Given the description of an element on the screen output the (x, y) to click on. 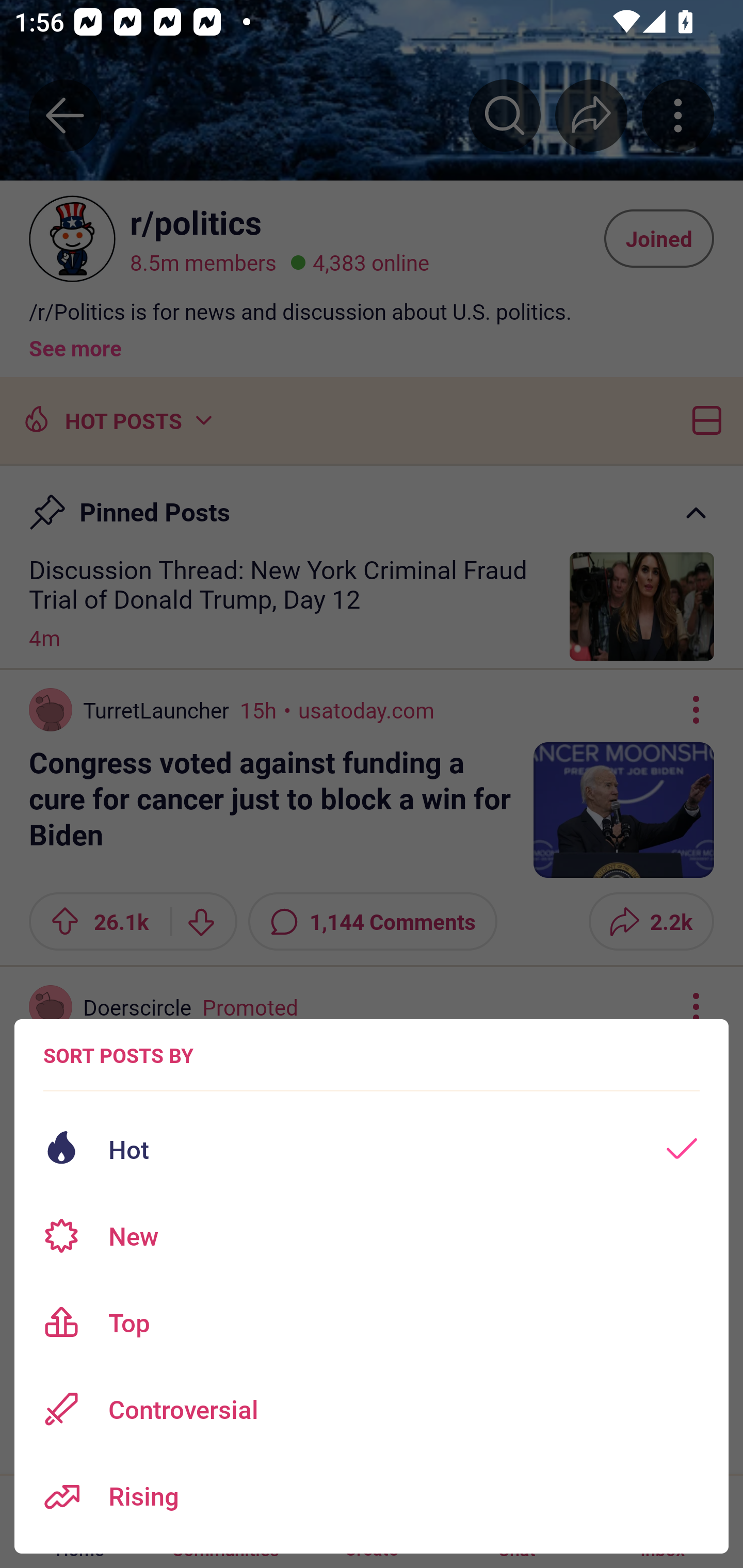
SORT POSTS BY Sort posts options (118, 1055)
Hot (371, 1149)
New (371, 1236)
Top (371, 1322)
Controversial (371, 1408)
Rising (371, 1495)
